Given the description of an element on the screen output the (x, y) to click on. 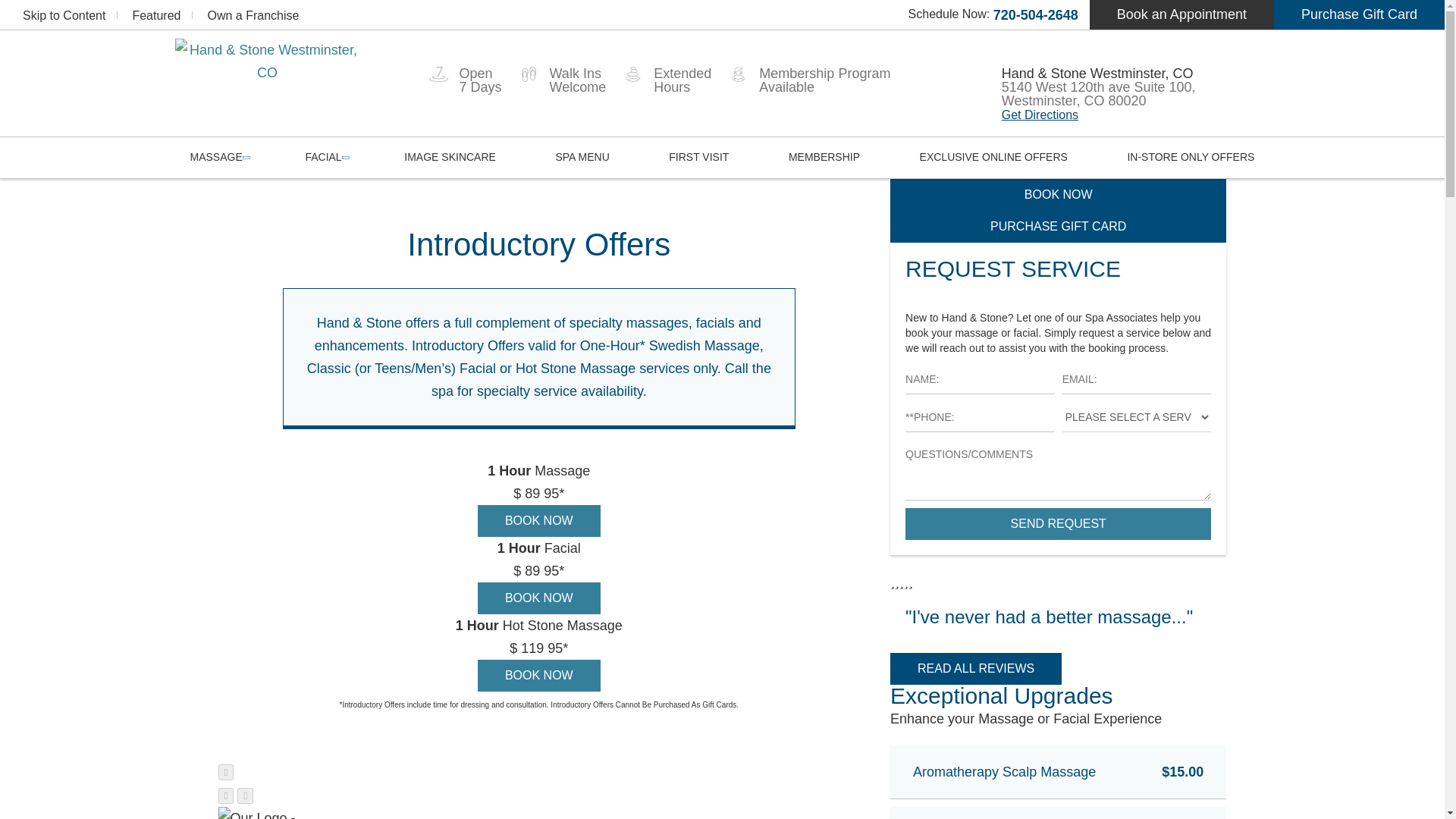
Own a Franchise (252, 15)
Skip to Content (63, 15)
Featured (156, 15)
720-504-2648 (1035, 15)
